Given the description of an element on the screen output the (x, y) to click on. 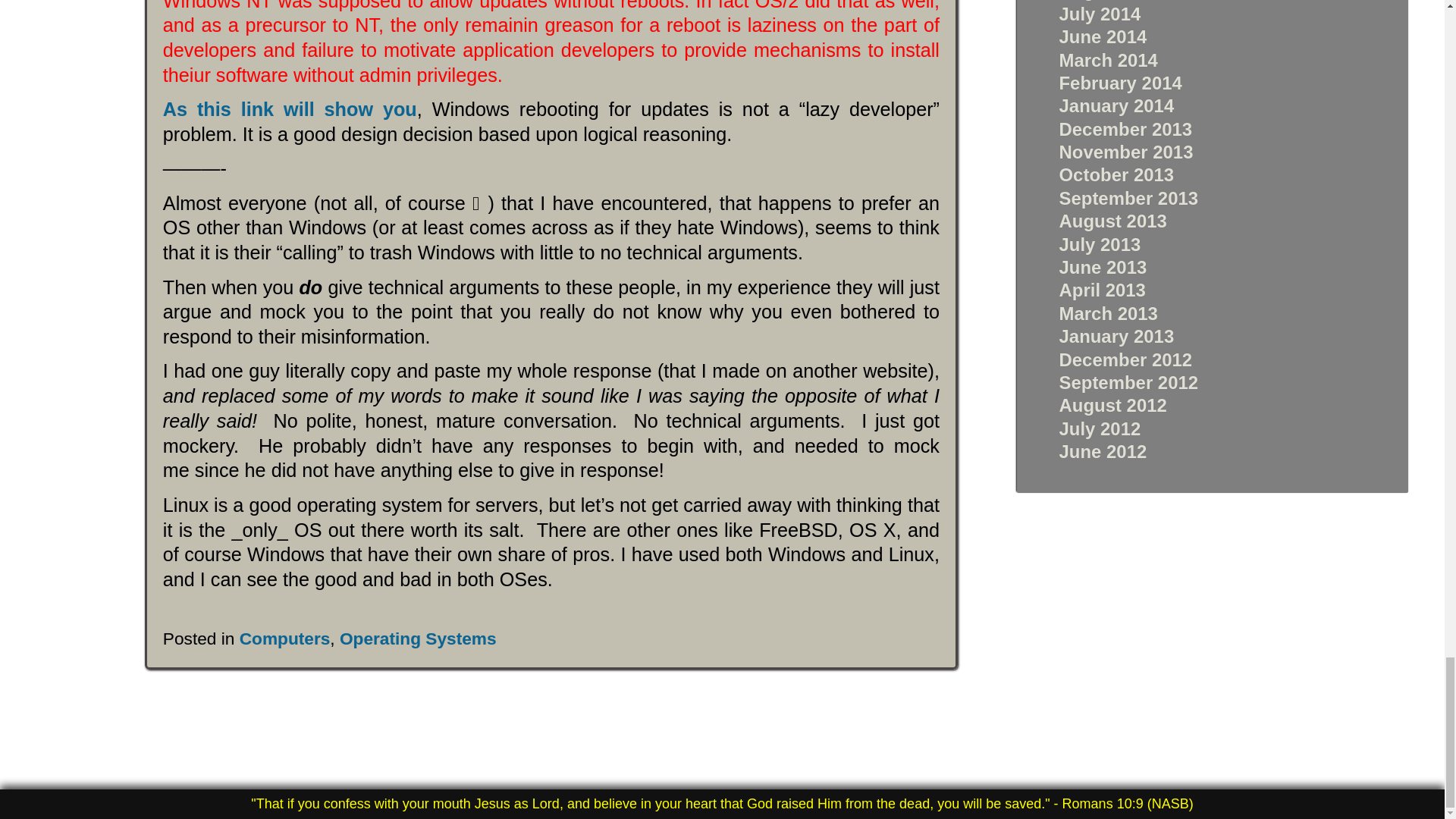
Operating Systems (417, 638)
As this link will show you (289, 108)
Computers (285, 638)
